Given the description of an element on the screen output the (x, y) to click on. 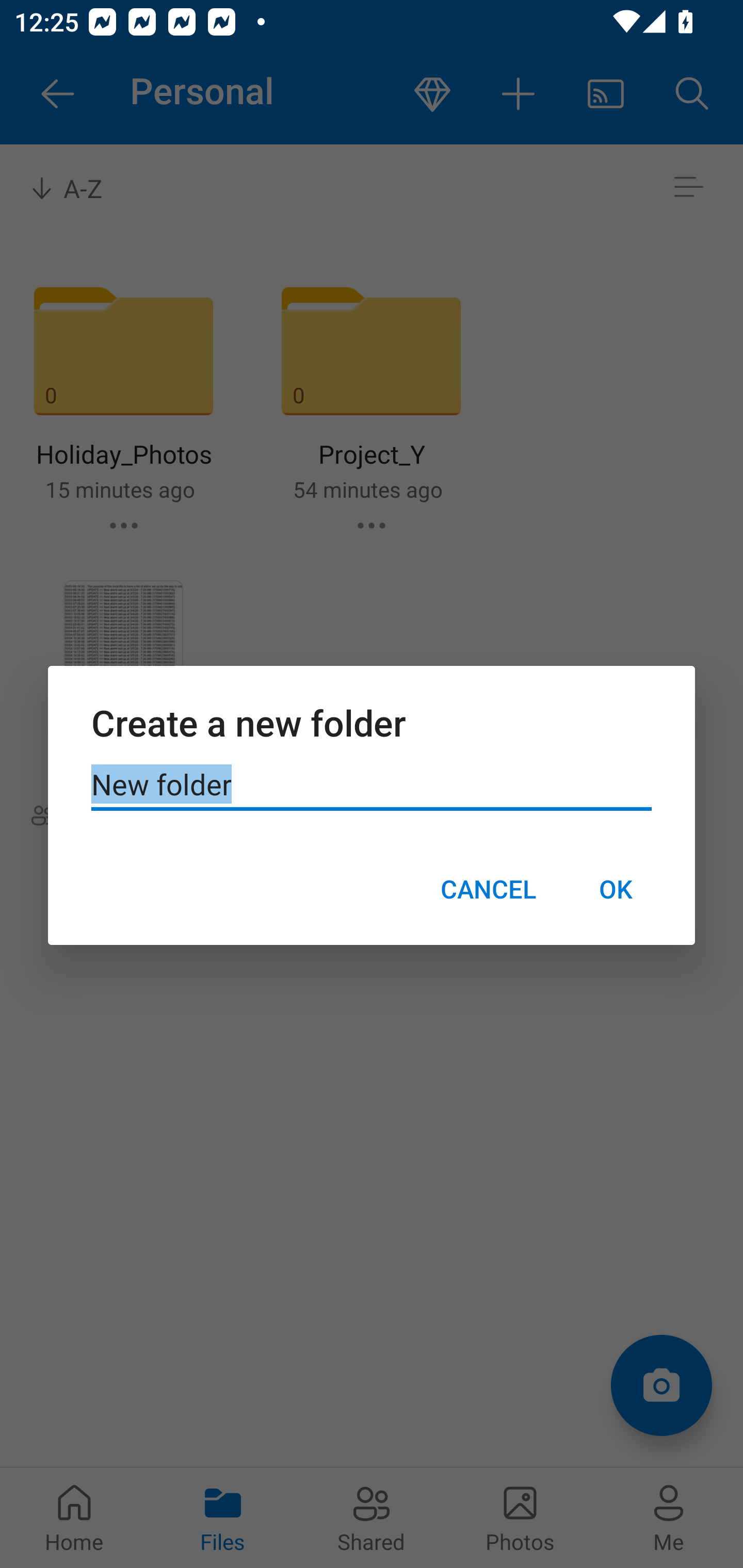
New folder (371, 784)
CANCEL (488, 888)
OK (615, 888)
